Given the description of an element on the screen output the (x, y) to click on. 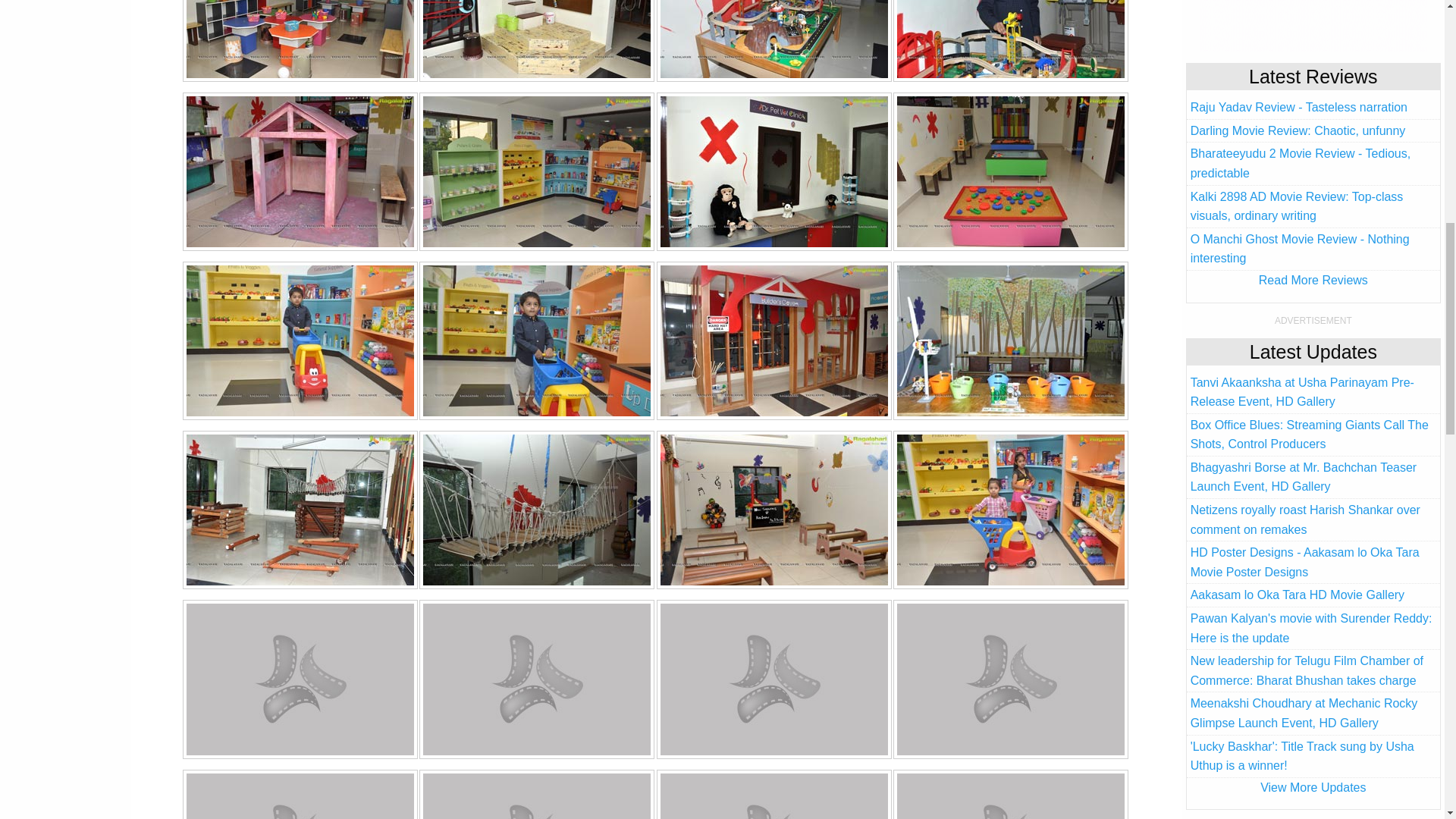
KiDiHOU Children Museum Launch, Hyderabad (536, 679)
KiDiHOU Children Museum Launch, Hyderabad (1009, 340)
KiDiHOU Children Museum Launch, Hyderabad (299, 679)
KiDiHOU Children Museum Launch, Hyderabad (536, 171)
KiDiHOU Children Museum Launch, Hyderabad (774, 171)
KiDiHOU Children Museum Launch, Hyderabad (299, 40)
KiDiHOU Children Museum Launch, Hyderabad (536, 340)
KiDiHOU Children Museum Launch, Hyderabad (1009, 679)
KiDiHOU Children Museum Launch, Hyderabad (1009, 509)
KiDiHOU Children Museum Launch, Hyderabad (774, 40)
KiDiHOU Children Museum Launch, Hyderabad (774, 340)
KiDiHOU Children Museum Launch, Hyderabad (536, 40)
KiDiHOU Children Museum Launch, Hyderabad (536, 509)
KiDiHOU Children Museum Launch, Hyderabad (299, 340)
KiDiHOU Children Museum Launch, Hyderabad (299, 171)
